Given the description of an element on the screen output the (x, y) to click on. 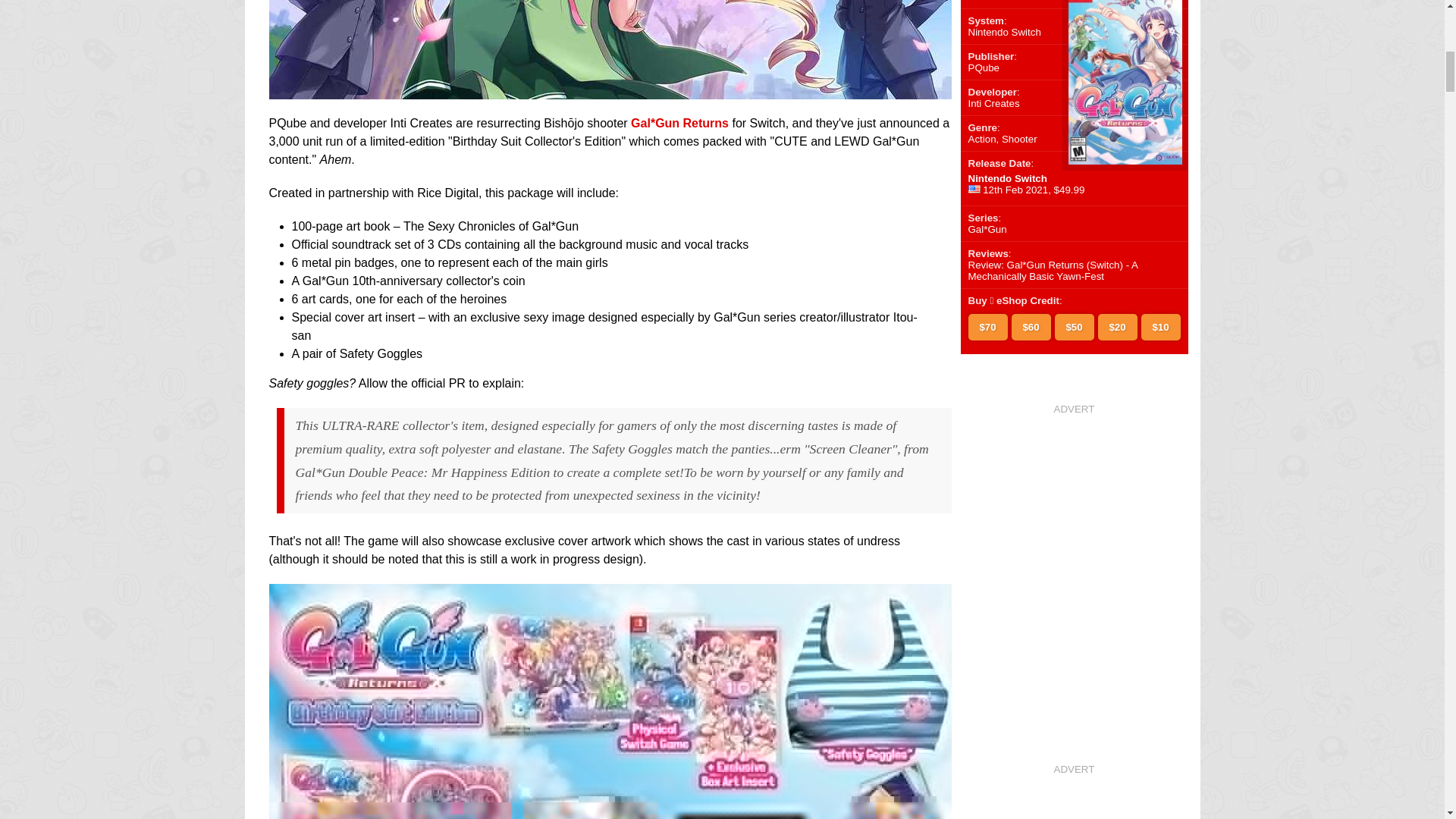
Gal Gun Returns (608, 89)
